Given the description of an element on the screen output the (x, y) to click on. 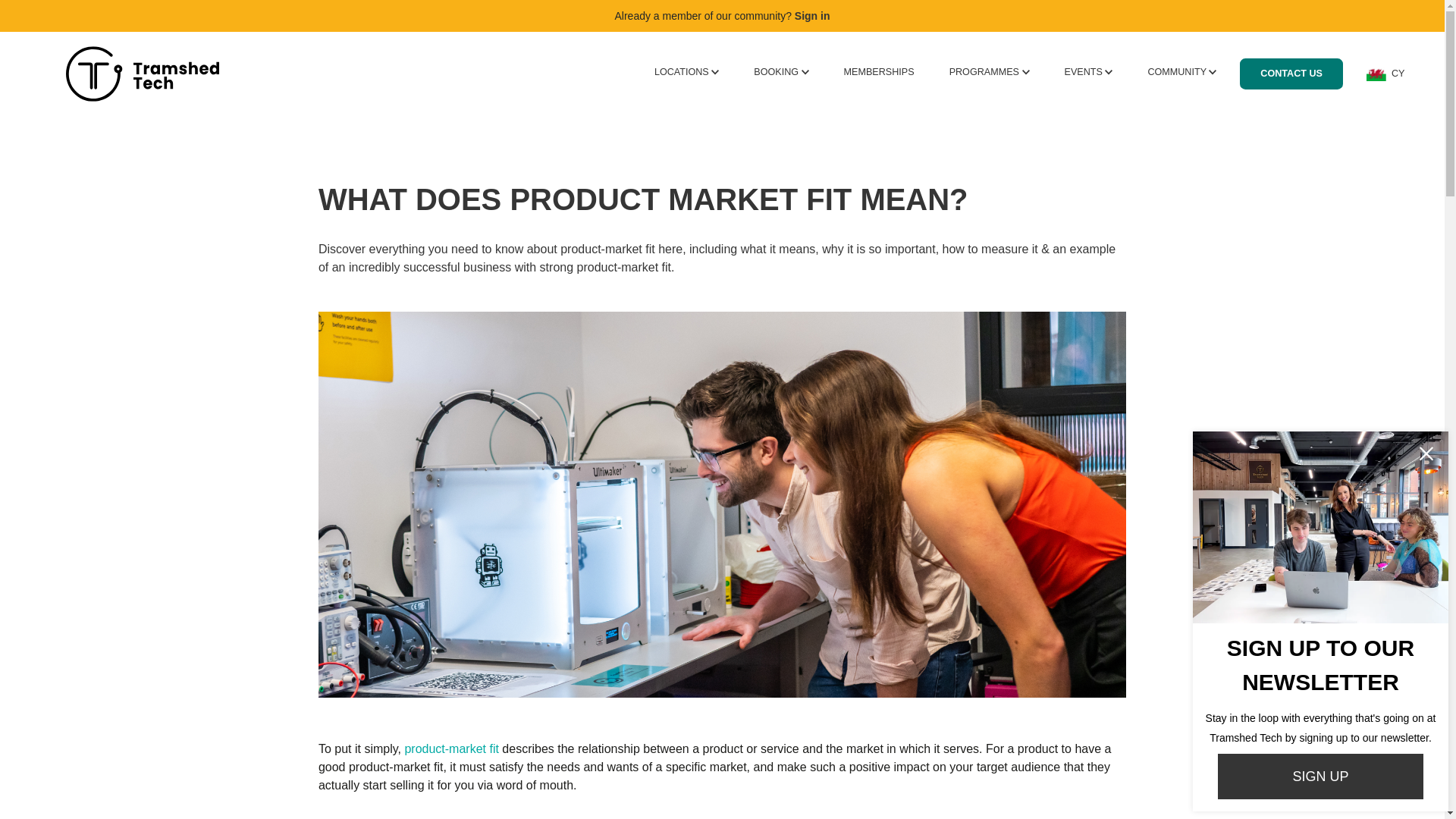
BOOKING (780, 71)
LOCATIONS (686, 71)
WHAT DOES PRODUCT MARKET FIT MEAN? (721, 199)
MEMBERSHIPS (879, 71)
PROGRAMMES (989, 71)
Sign in (811, 15)
